Given the description of an element on the screen output the (x, y) to click on. 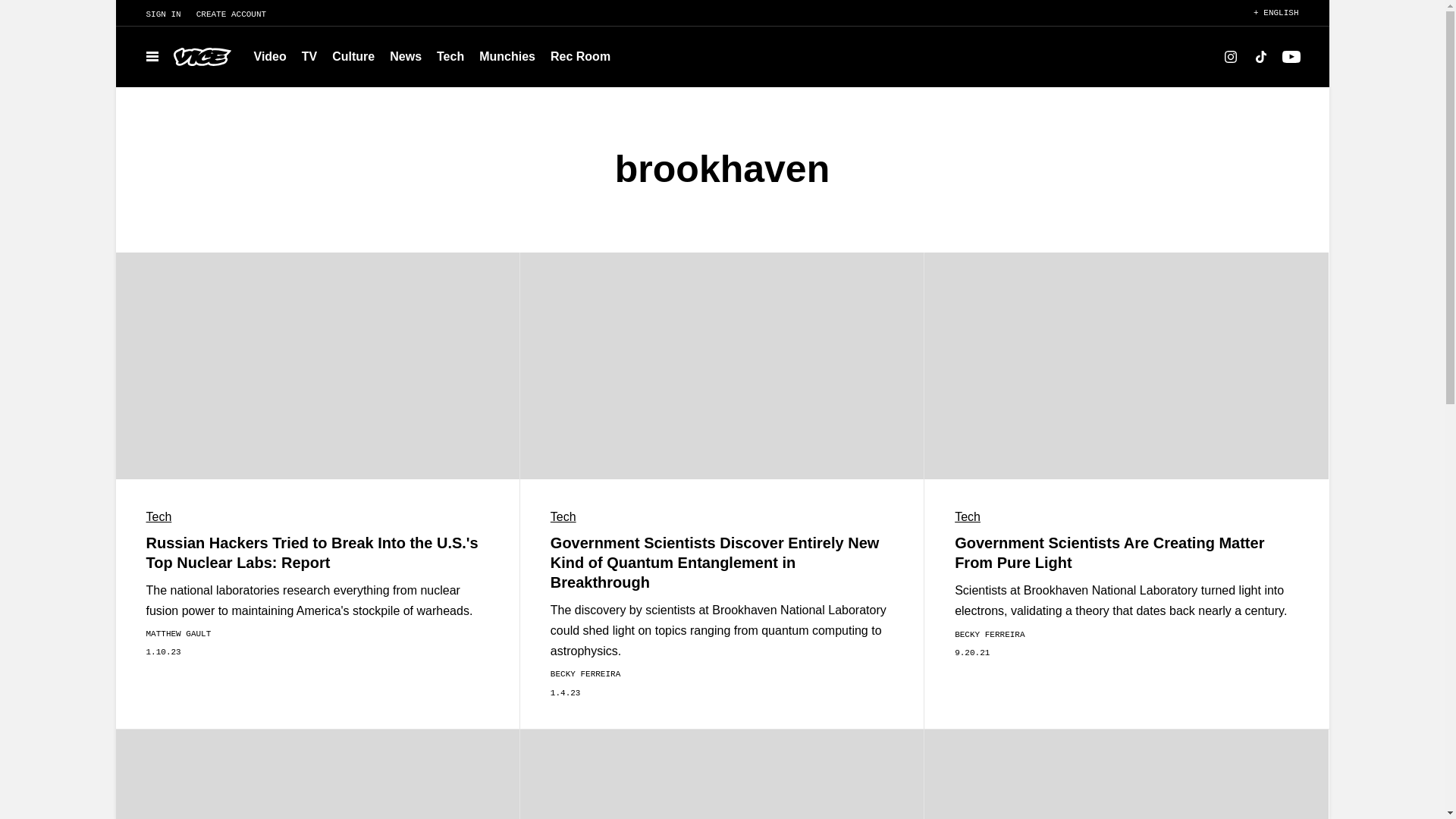
Video (270, 56)
Rec Room (580, 56)
News (405, 56)
Culture (352, 56)
Tech (450, 56)
CREATE ACCOUNT (238, 13)
TV (309, 56)
SIGN IN (155, 13)
Munchies (507, 56)
